Given the description of an element on the screen output the (x, y) to click on. 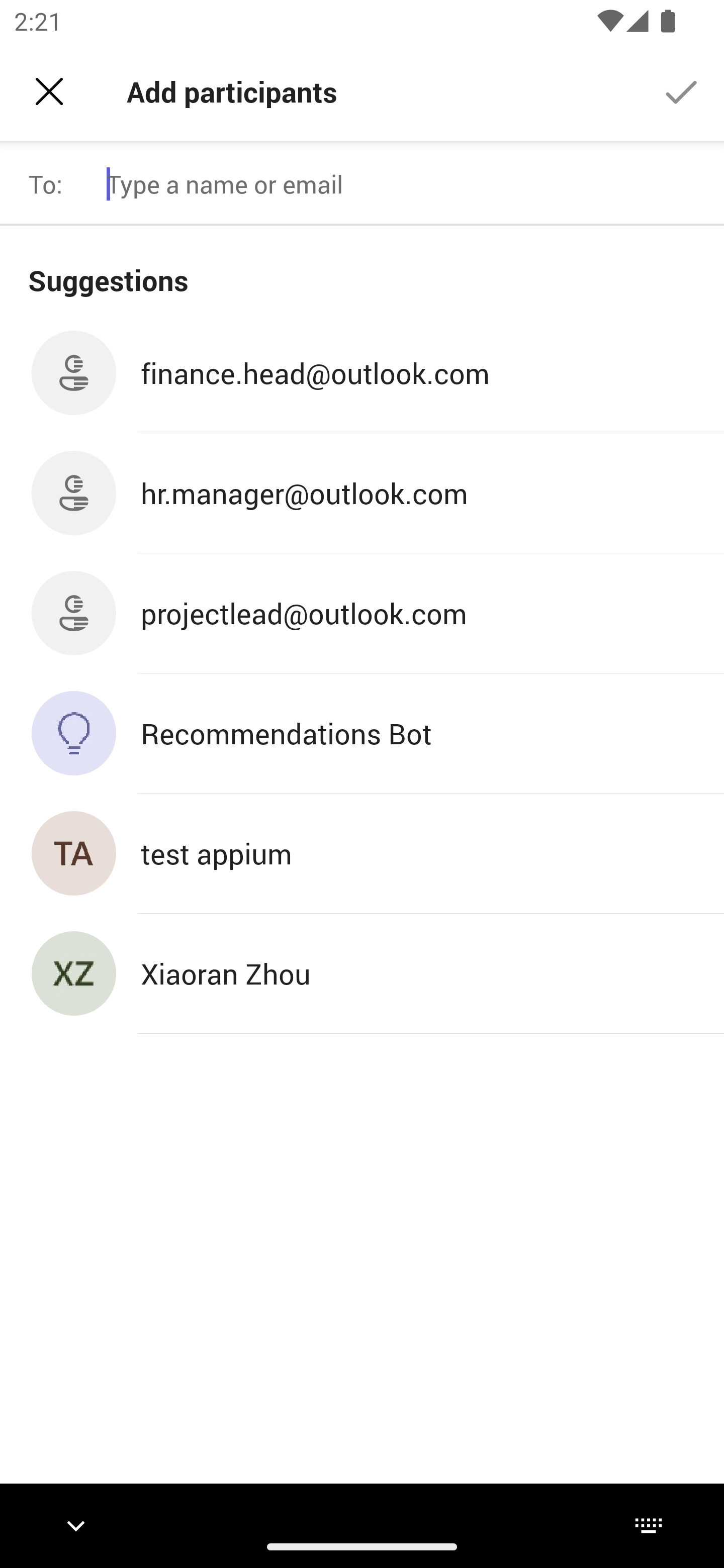
Back (49, 91)
Submit (681, 90)
Add users Type a name or email (407, 184)
